Given the description of an element on the screen output the (x, y) to click on. 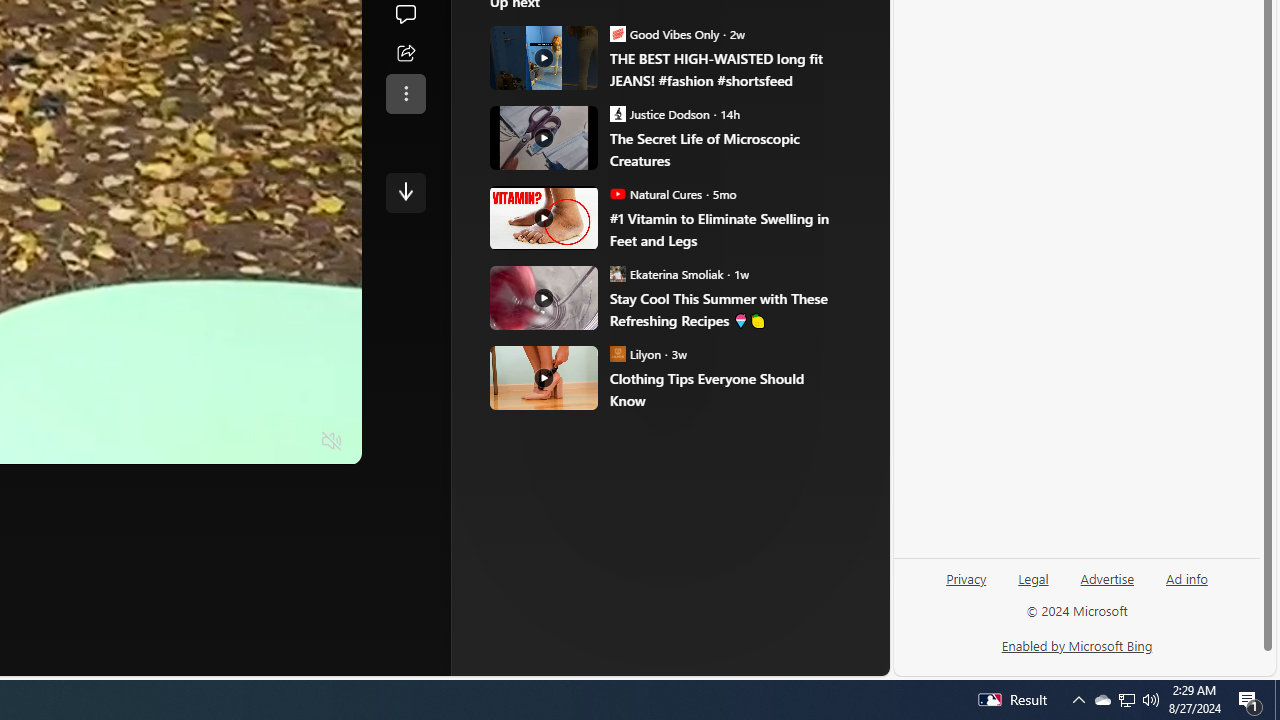
The Secret Life of Microscopic Creatures (543, 137)
Ad Choice (822, 336)
Advertise (1107, 577)
Ad info (1186, 586)
Justice Dodson (617, 113)
Captions (253, 442)
THE BEST HIGH-WAISTED long fit JEANS! #fashion #shortsfeed (726, 70)
The Secret Life of Microscopic Creatures (726, 150)
Natural Cures Natural Cures (656, 193)
Lilyon (617, 354)
Quality Settings (214, 442)
Clothing Tips Everyone Should Know (543, 377)
